Given the description of an element on the screen output the (x, y) to click on. 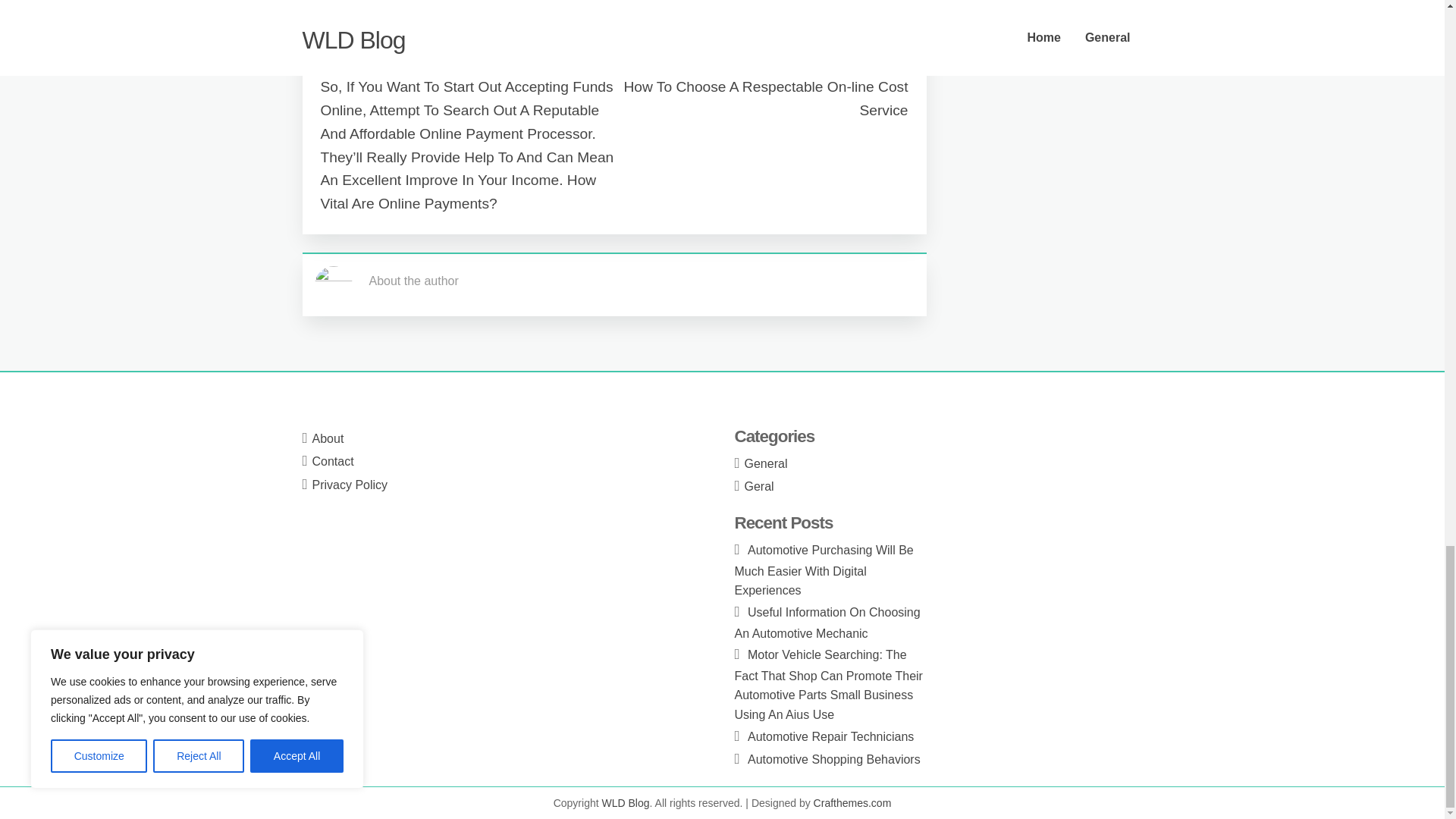
General (351, 10)
Next Post (875, 64)
Previous Post (364, 64)
About (328, 438)
Privacy Policy (350, 484)
How To Choose A Respectable On-line Cost Service (765, 97)
Contact (333, 461)
